Given the description of an element on the screen output the (x, y) to click on. 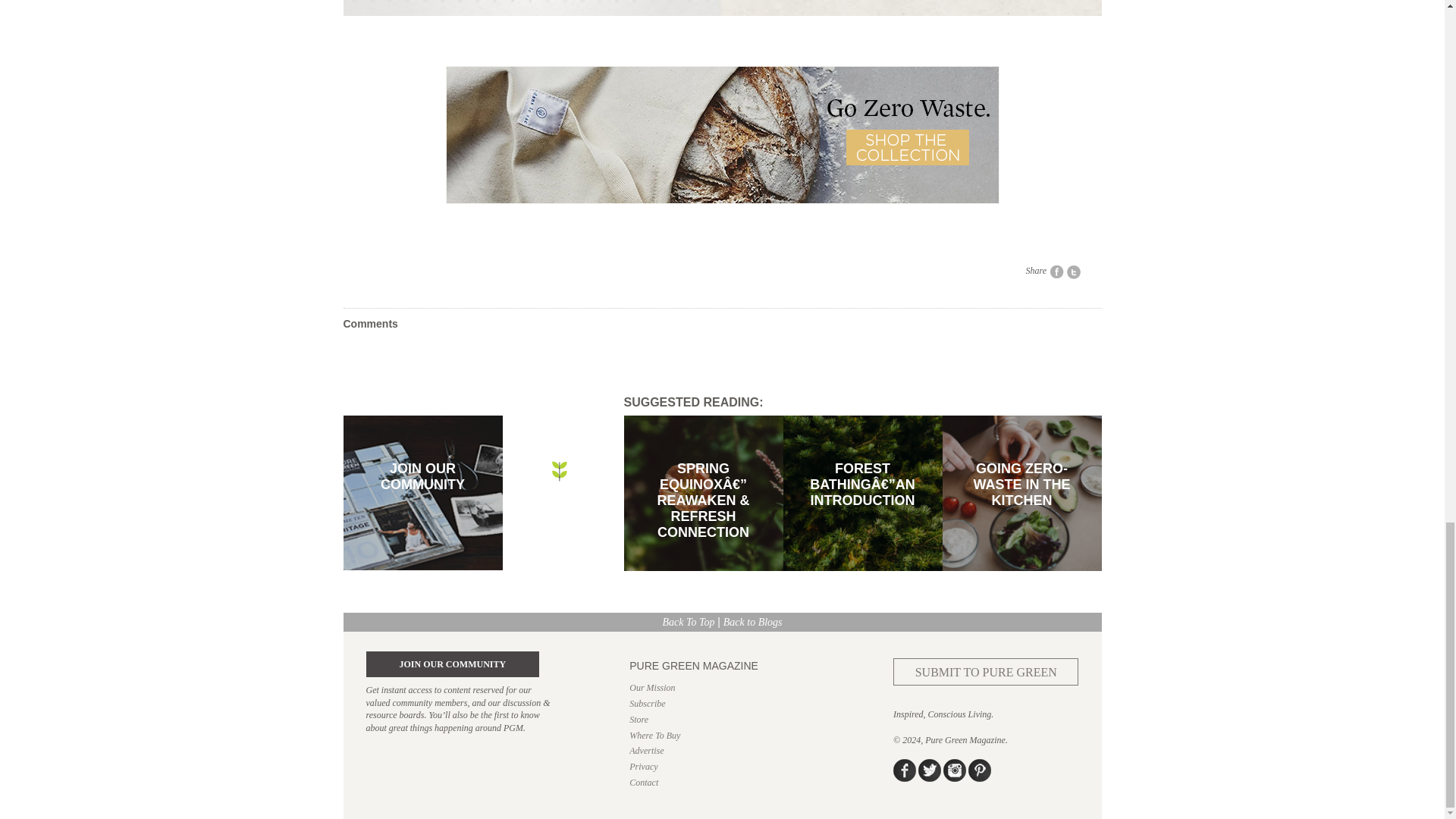
JOIN OUR COMMUNITY (451, 664)
SUBMIT TO PURE GREEN (985, 688)
Back To Top (688, 622)
Our Mission (720, 687)
GOING ZERO-WASTE IN THE KITCHEN (1021, 567)
Store (720, 719)
Advertise (720, 750)
Where To Buy (720, 735)
Contact (720, 782)
Privacy (720, 766)
Back to Blogs (753, 622)
JOIN OUR COMMUNITY (422, 566)
Subscribe (720, 703)
